Given the description of an element on the screen output the (x, y) to click on. 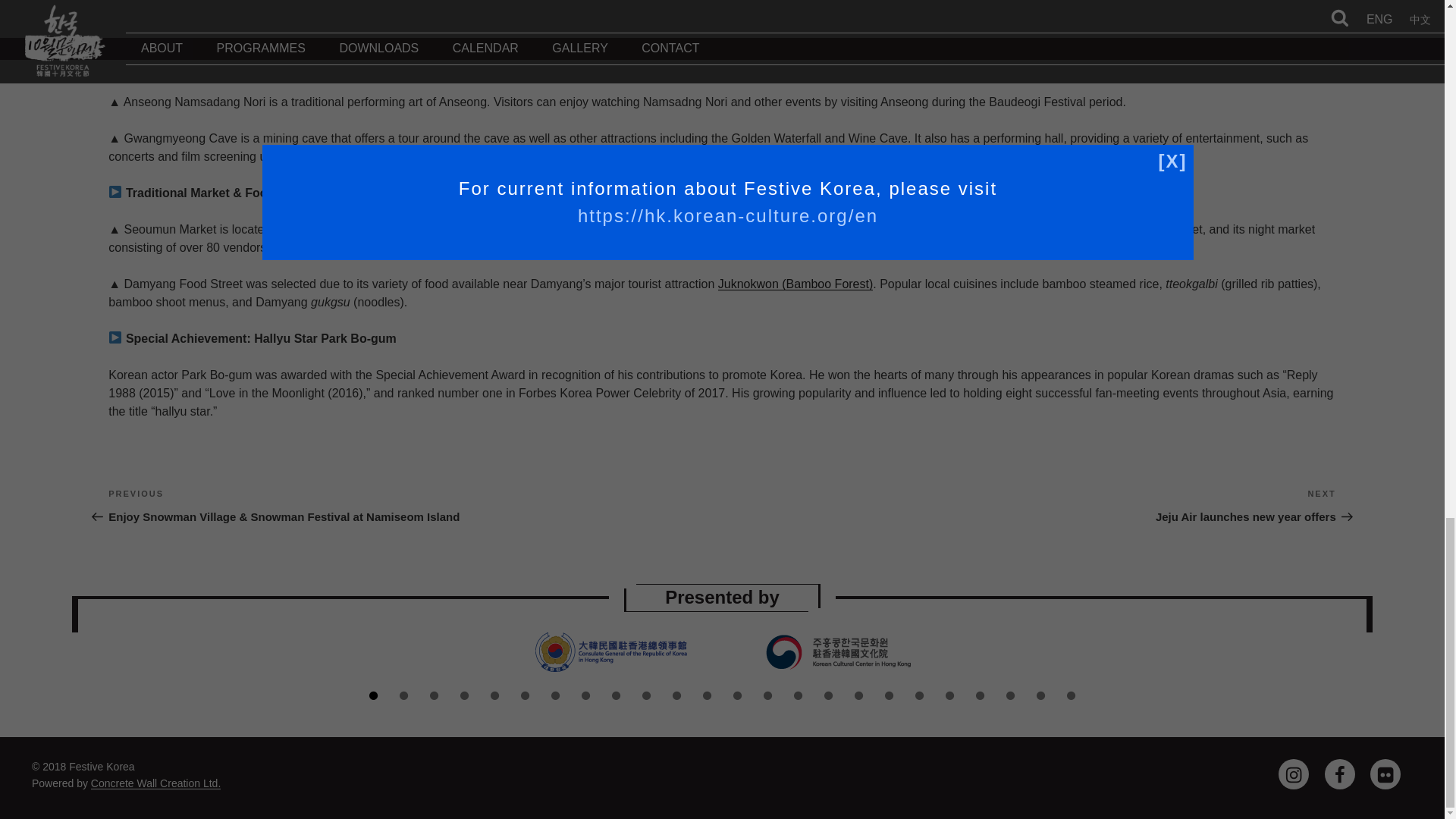
go to web (828, 228)
go to web (610, 228)
go to web (795, 283)
